Given the description of an element on the screen output the (x, y) to click on. 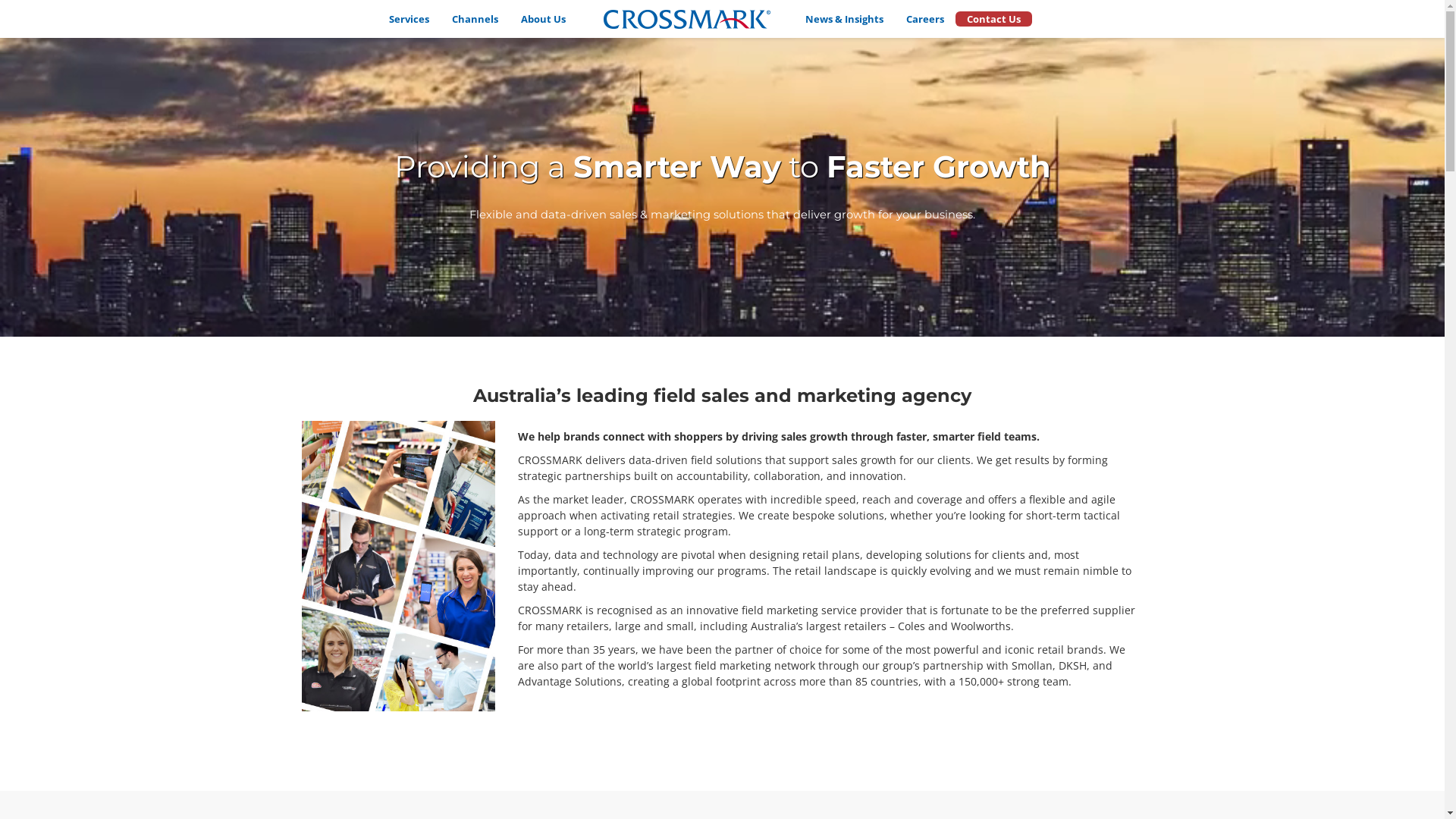
Providing a Smarter Way to Faster Growth Element type: text (722, 168)
About Us Element type: text (543, 18)
Careers Element type: text (924, 18)
News & Insights Element type: text (843, 18)
Channels Element type: text (474, 18)
Contact Us Element type: text (993, 18)
Services Element type: text (408, 18)
